Given the description of an element on the screen output the (x, y) to click on. 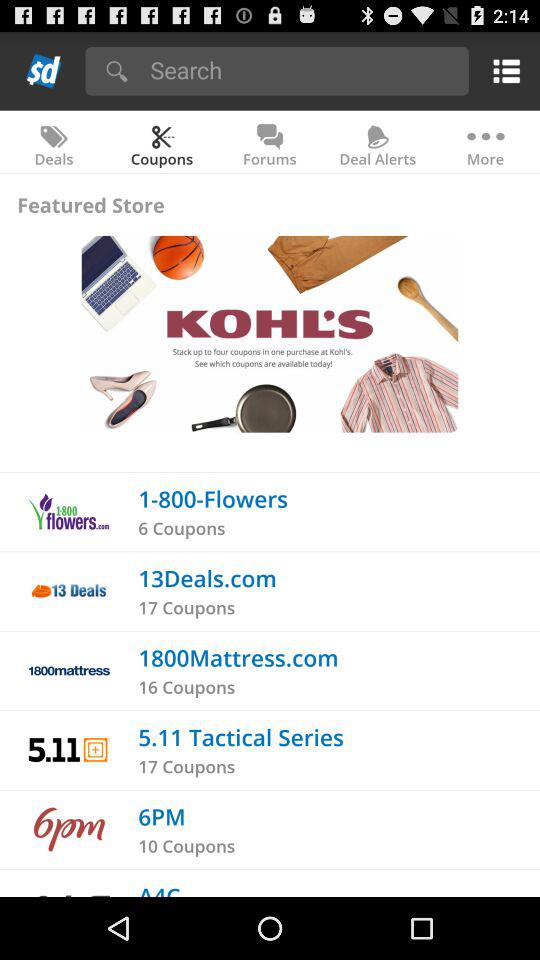
swipe until the 1-800-flowers app (213, 498)
